Given the description of an element on the screen output the (x, y) to click on. 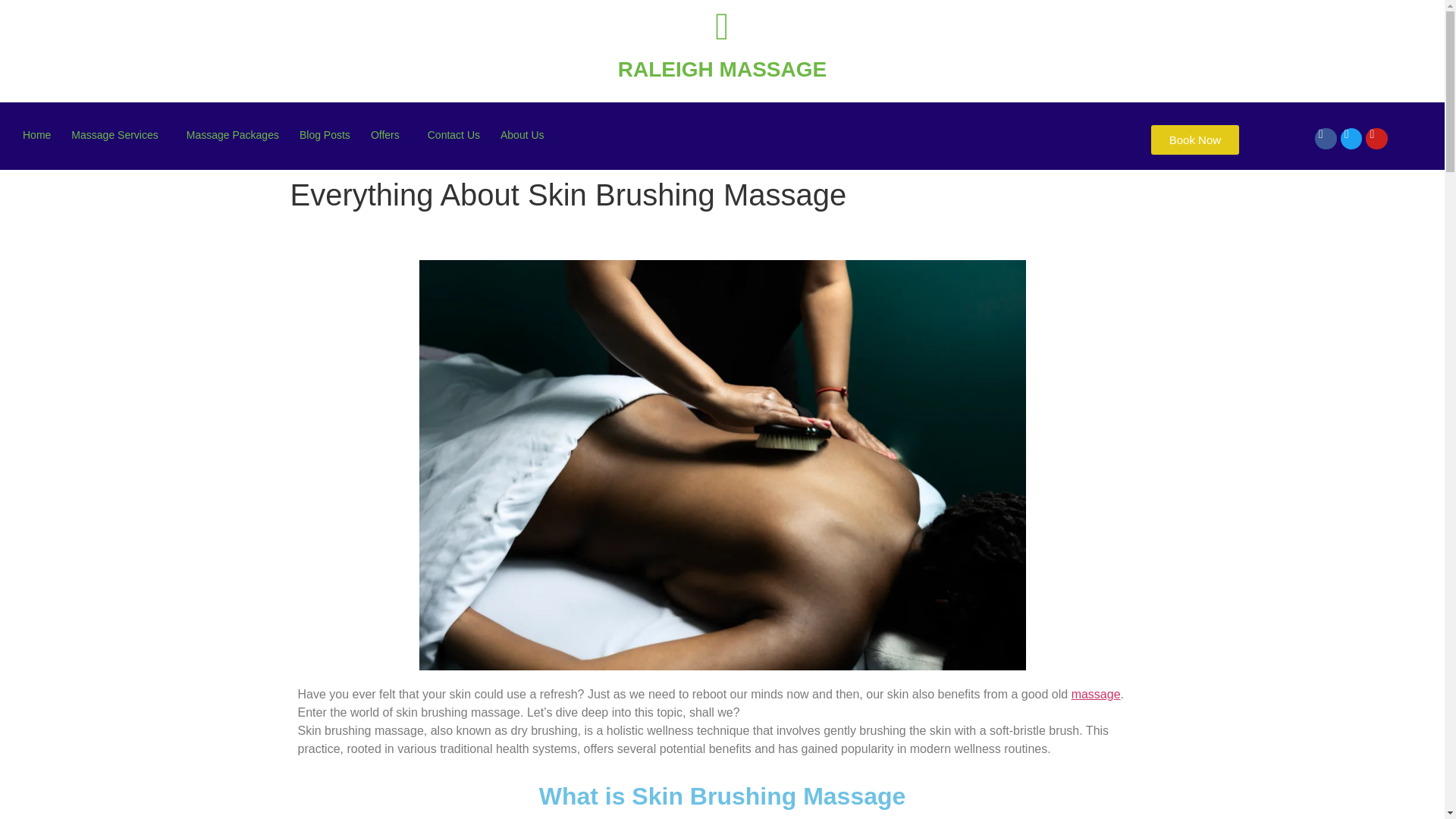
RALEIGH MASSAGE (722, 69)
massage (1096, 694)
About Us (526, 134)
Massage Packages (232, 134)
Home (36, 134)
Book Now (1195, 139)
Contact Us (453, 134)
Offers (388, 134)
Massage Services (118, 134)
Blog Posts (325, 134)
